Given the description of an element on the screen output the (x, y) to click on. 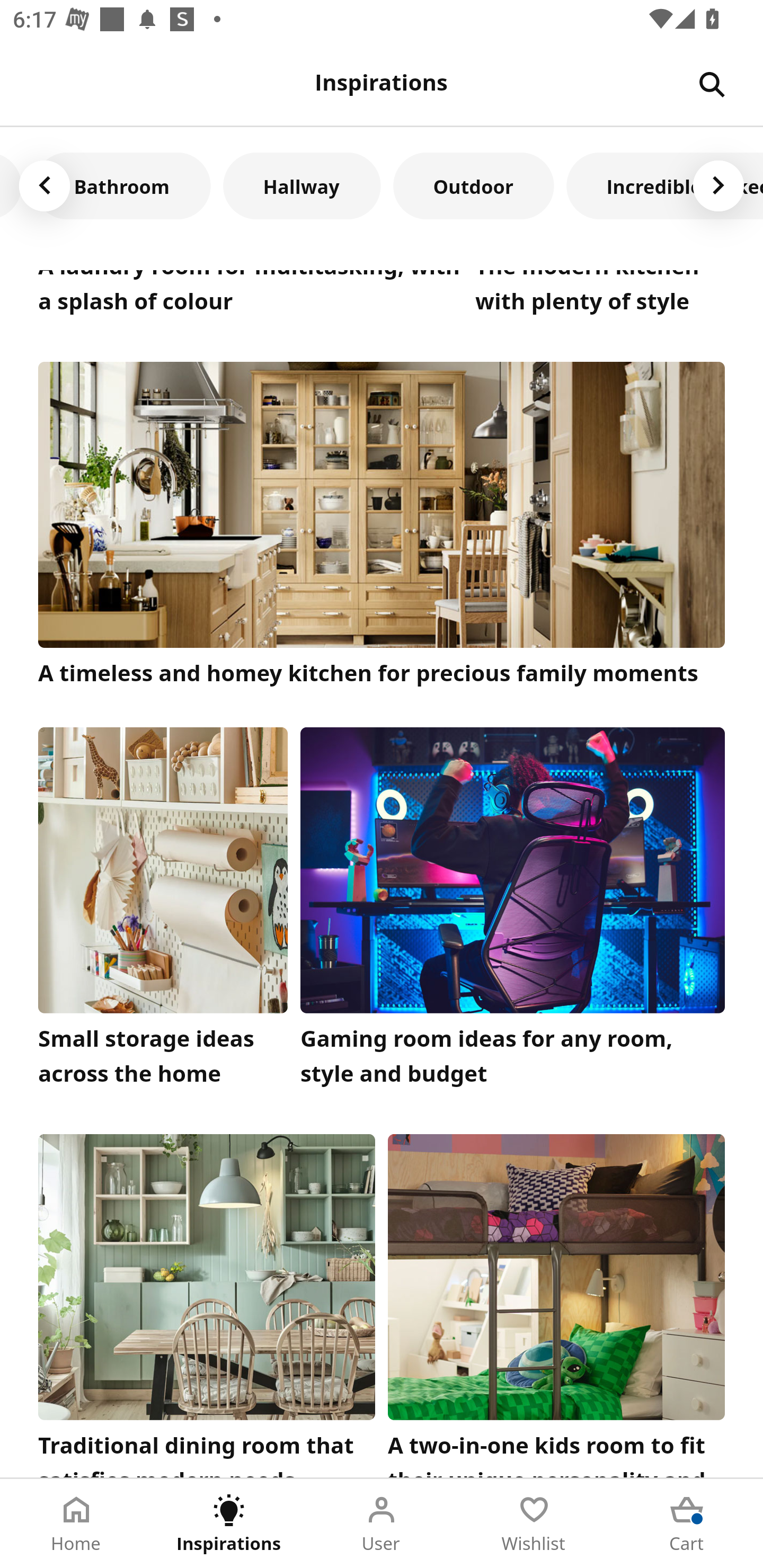
Bathroom (121, 185)
Hallway (301, 185)
Outdoor (472, 185)
Small storage ideas across the home (162, 911)
Gaming room ideas for any room, style and budget (512, 911)
Home
Tab 1 of 5 (76, 1522)
Inspirations
Tab 2 of 5 (228, 1522)
User
Tab 3 of 5 (381, 1522)
Wishlist
Tab 4 of 5 (533, 1522)
Cart
Tab 5 of 5 (686, 1522)
